Given the description of an element on the screen output the (x, y) to click on. 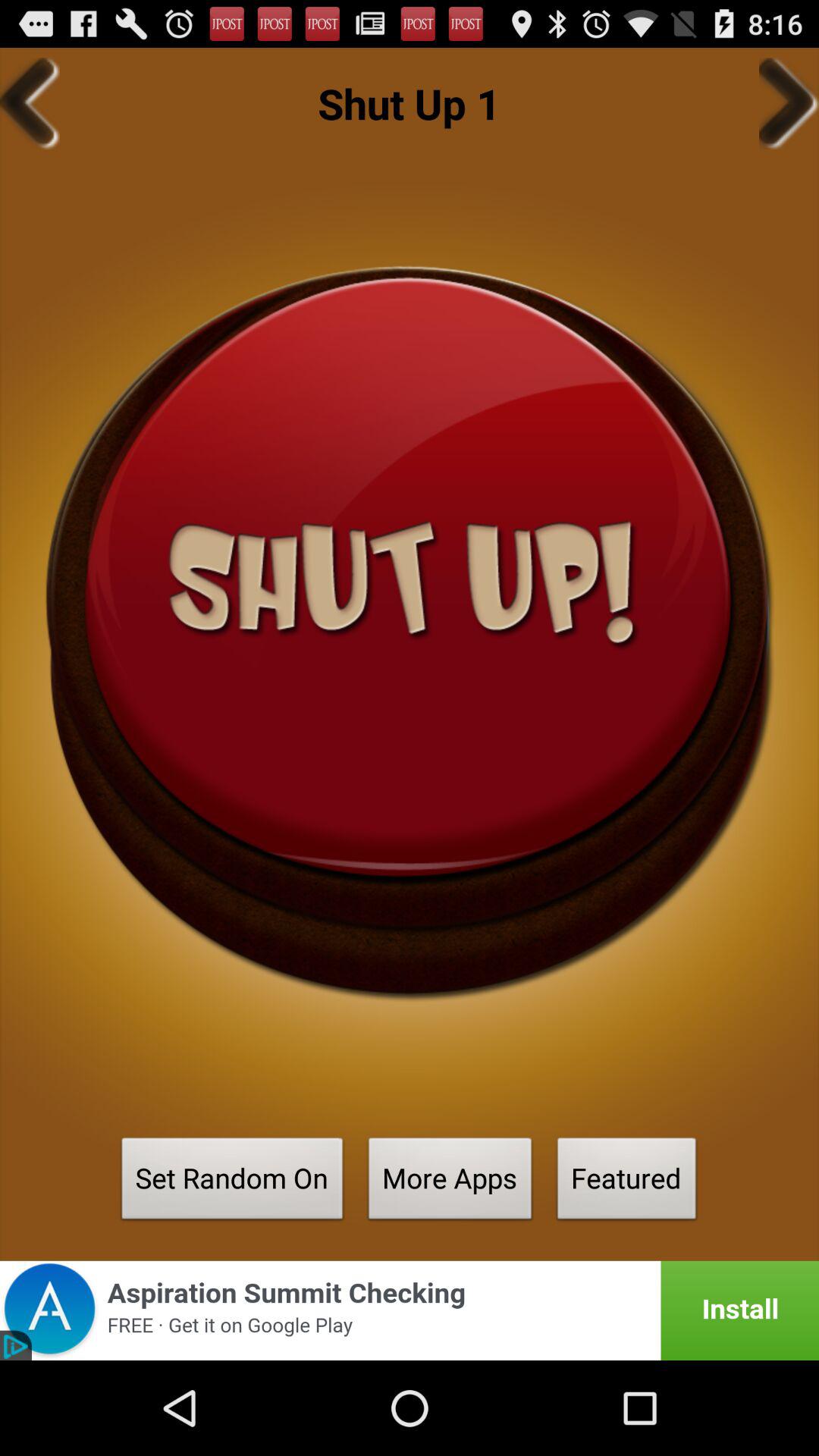
tap the more apps button (450, 1182)
